Given the description of an element on the screen output the (x, y) to click on. 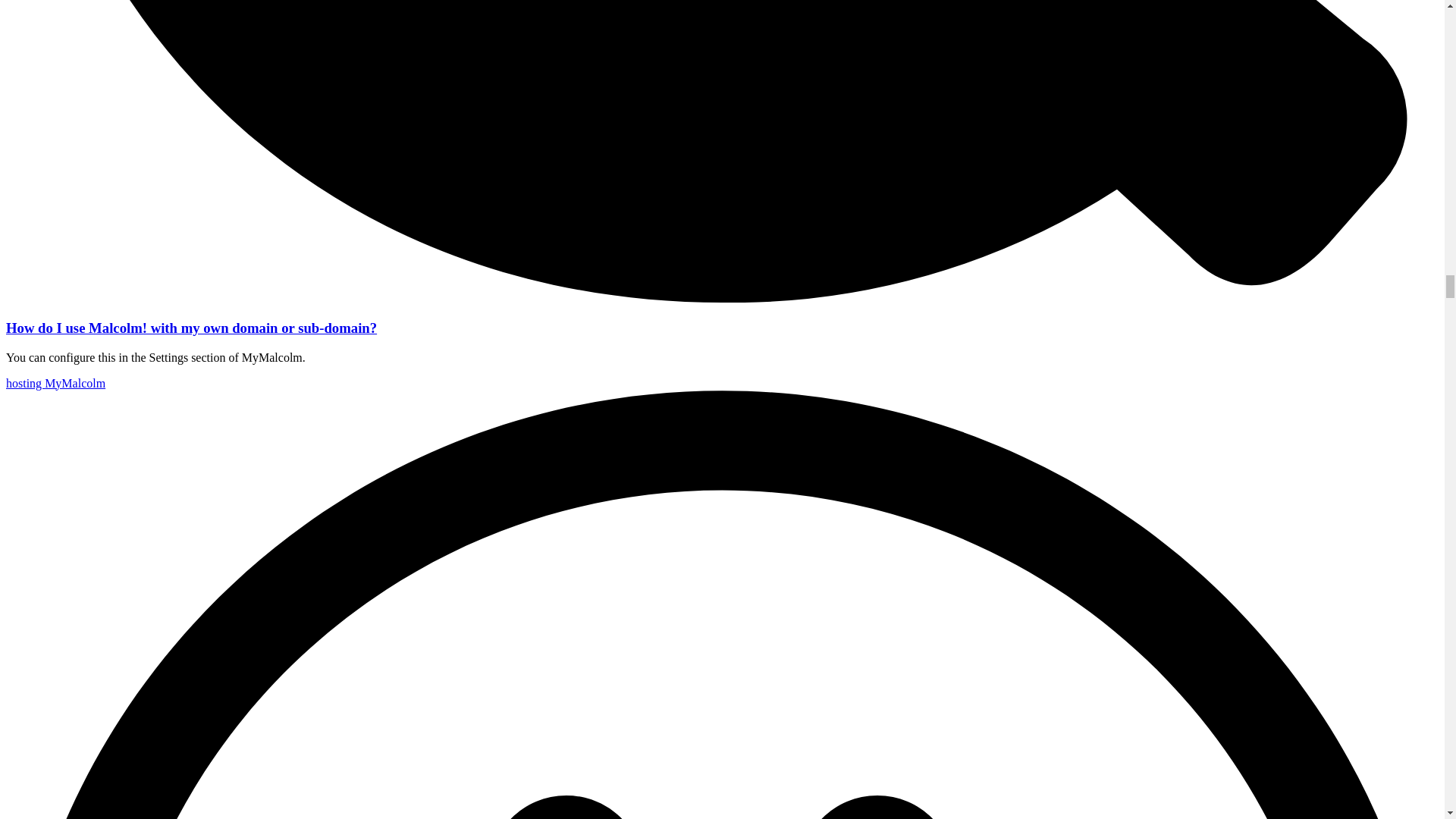
How do I use Malcolm! with my own domain or sub-domain? (191, 327)
MyMalcolm (74, 382)
hosting (25, 382)
